Given the description of an element on the screen output the (x, y) to click on. 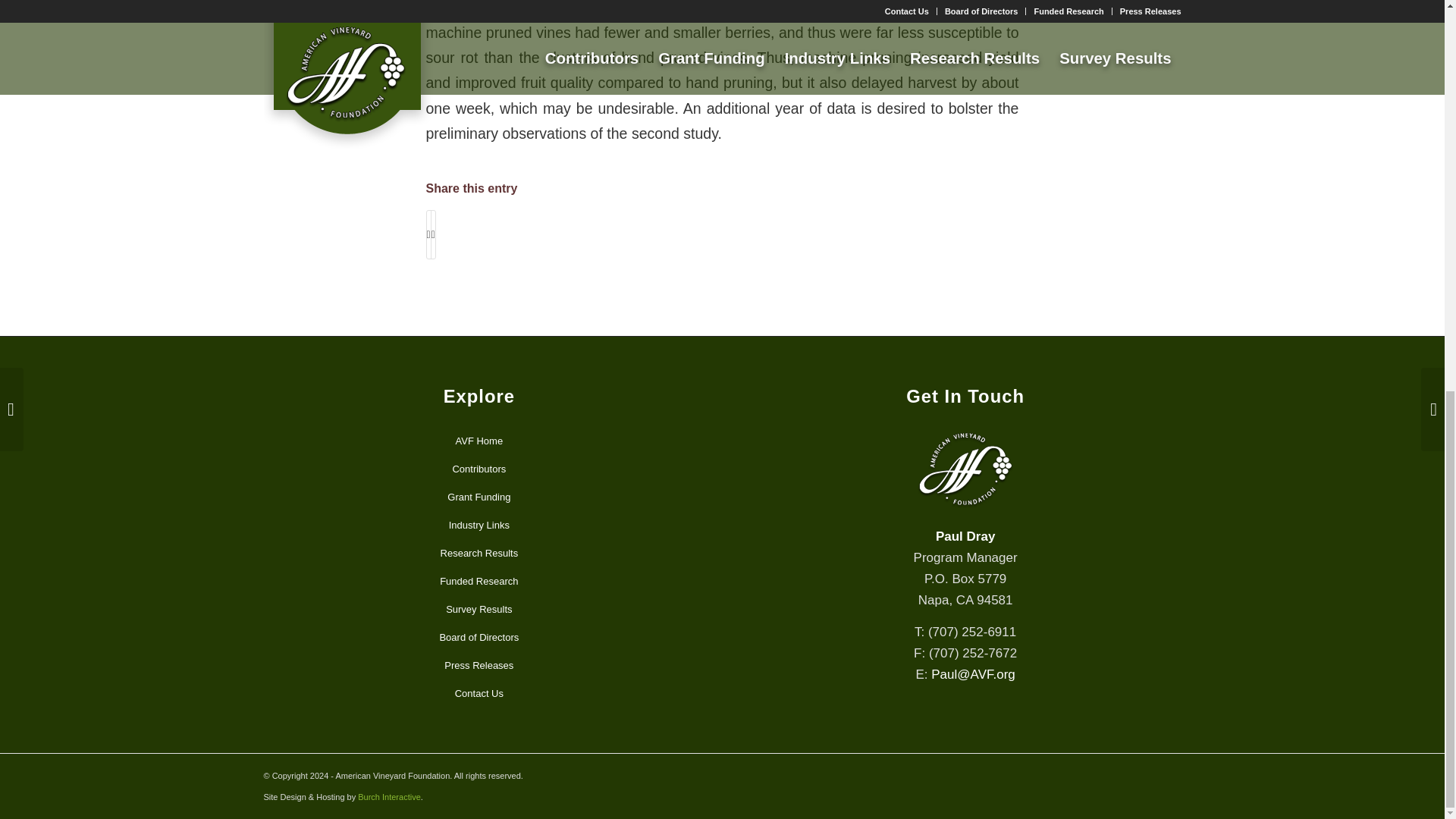
Contributors (479, 469)
Contributors to AVF (479, 469)
AVF Home (479, 441)
Grant Funding RFP (479, 497)
Funded Research (479, 582)
Contact Us (479, 694)
Survey Results (479, 610)
Burch Interactive (389, 796)
Grant Funding (479, 497)
Press Releases (479, 665)
